Given the description of an element on the screen output the (x, y) to click on. 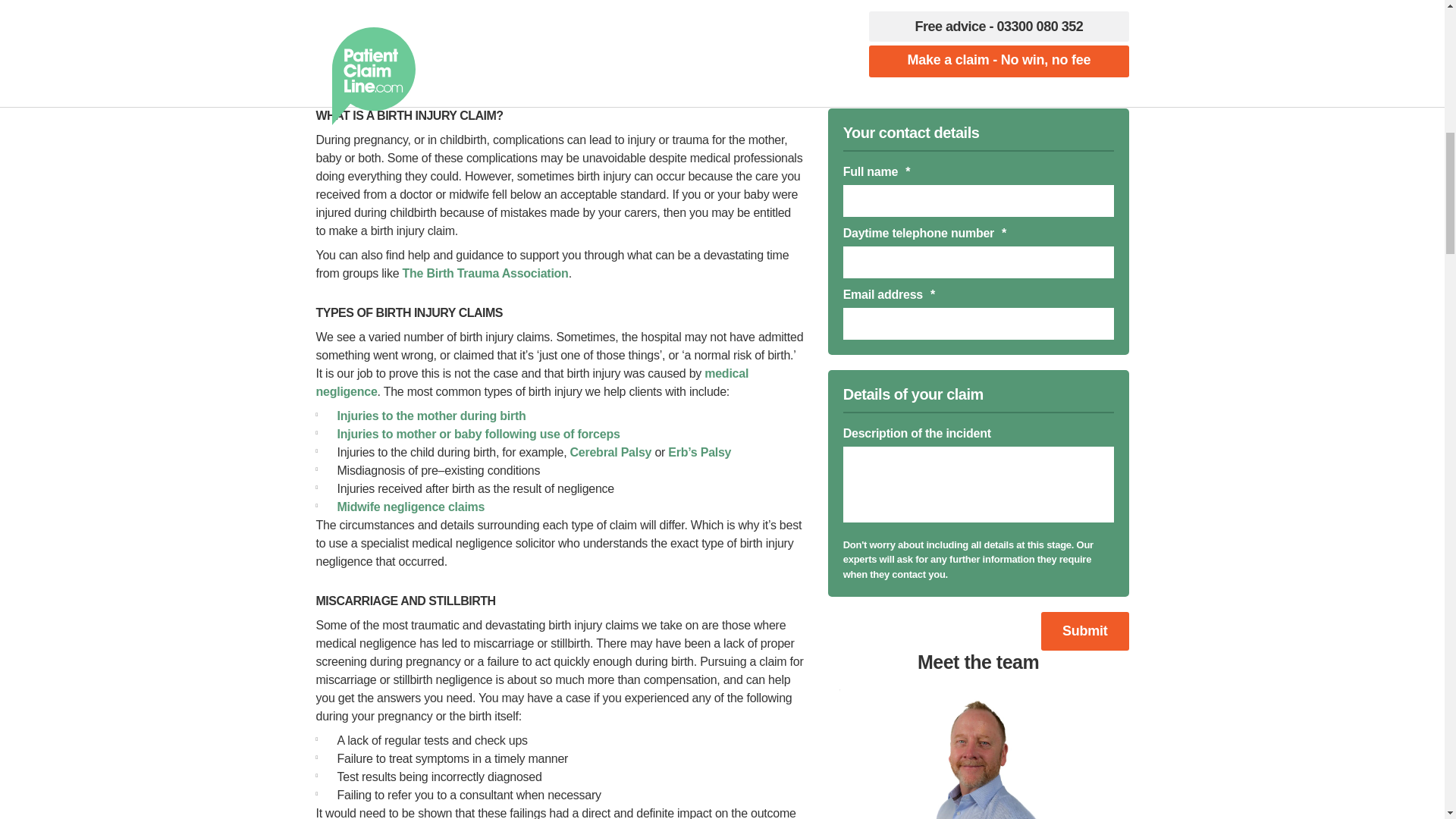
The Birth Trauma Association (486, 273)
Submit (1085, 630)
Customer reviews powered by Trustpilot (721, 30)
Injuries to the mother during birth (430, 415)
Midwife negligence claims (410, 506)
Injuries to mother or baby following use of forceps (478, 433)
Cerebral Palsy (611, 451)
medical negligence (531, 382)
Submit (1085, 630)
